Given the description of an element on the screen output the (x, y) to click on. 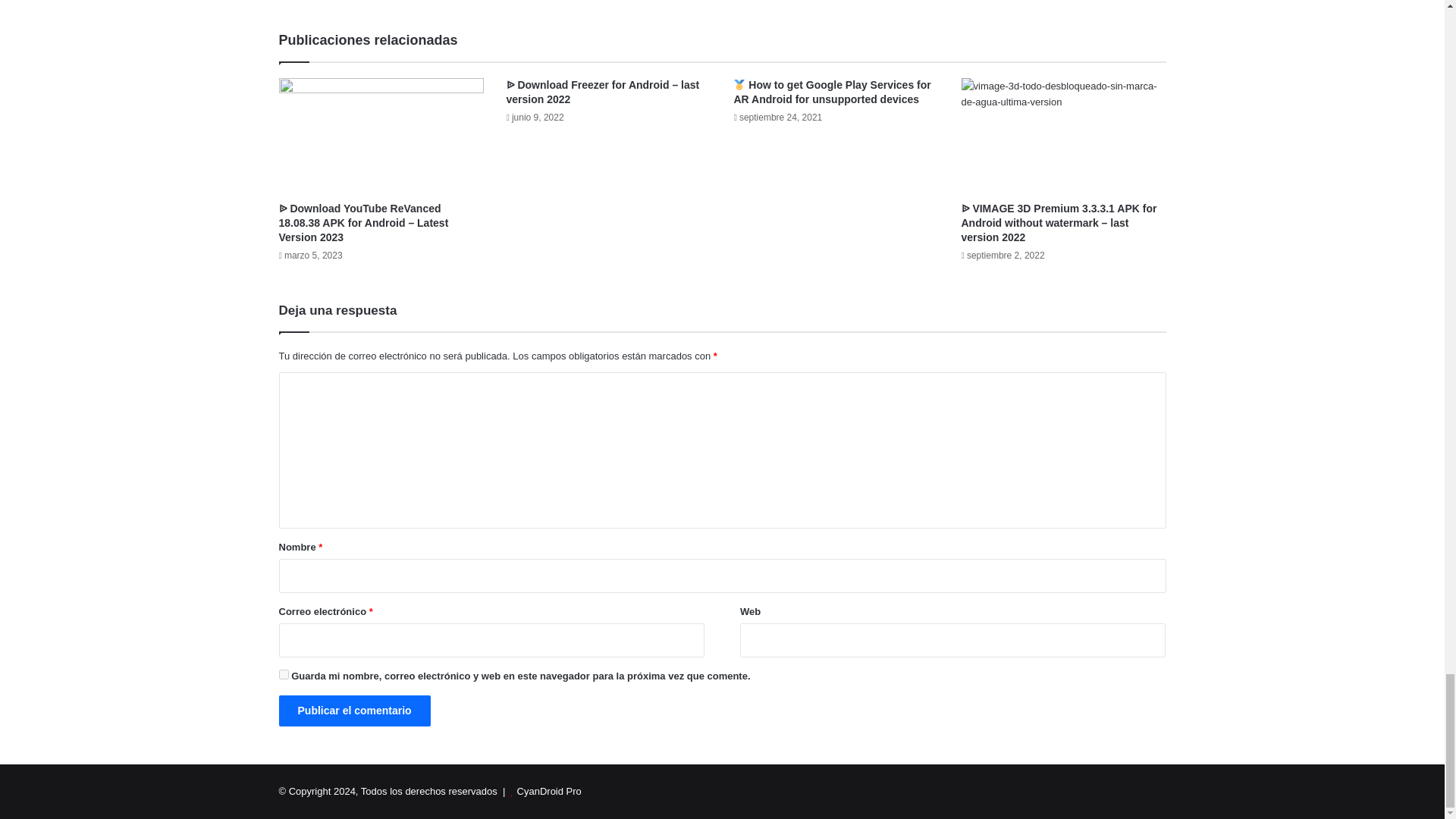
yes (283, 674)
Publicar el comentario (354, 710)
